Given the description of an element on the screen output the (x, y) to click on. 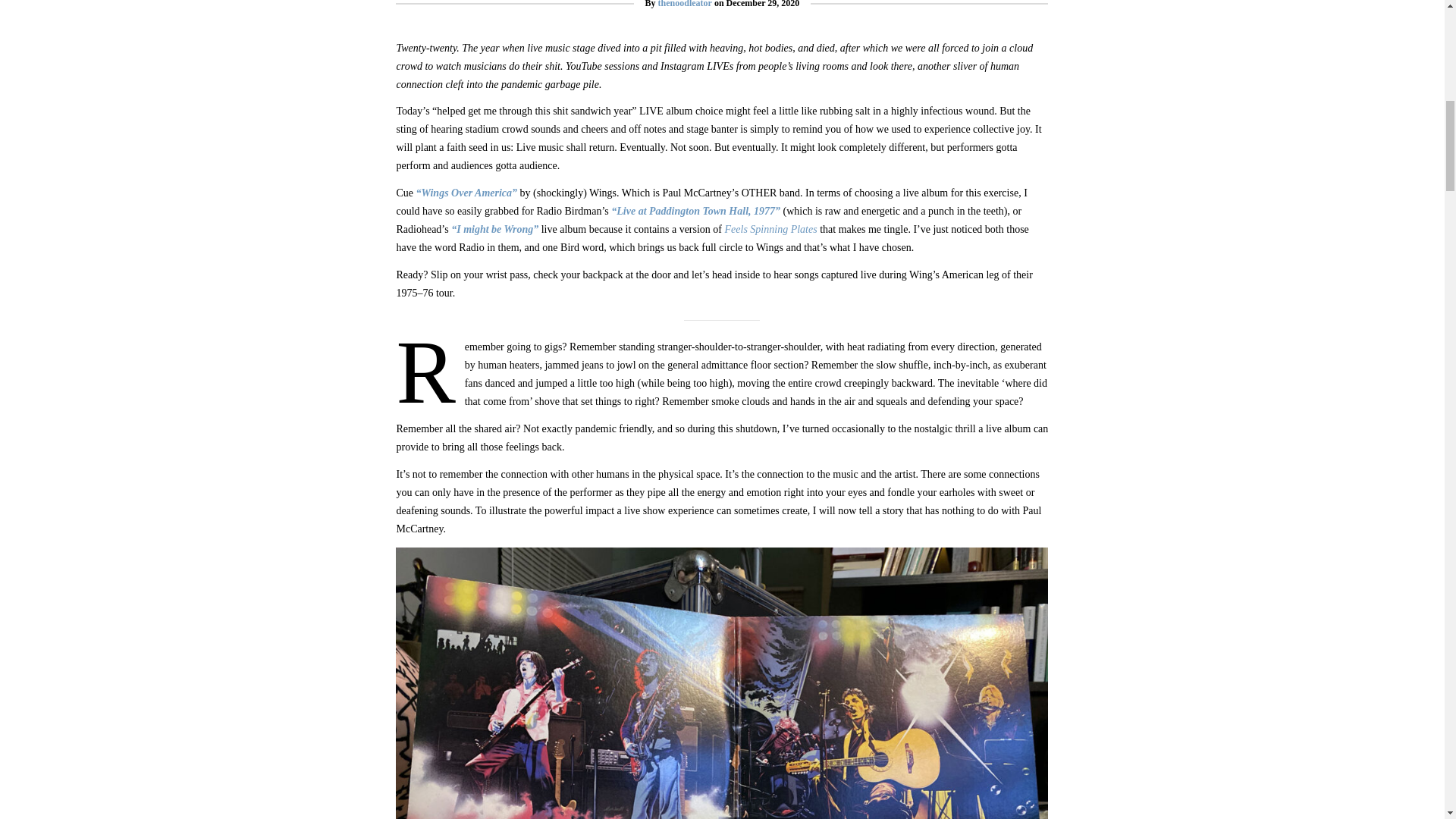
Posts by thenoodleator (684, 4)
Feels Spinning Plates (770, 229)
thenoodleator (684, 4)
